Given the description of an element on the screen output the (x, y) to click on. 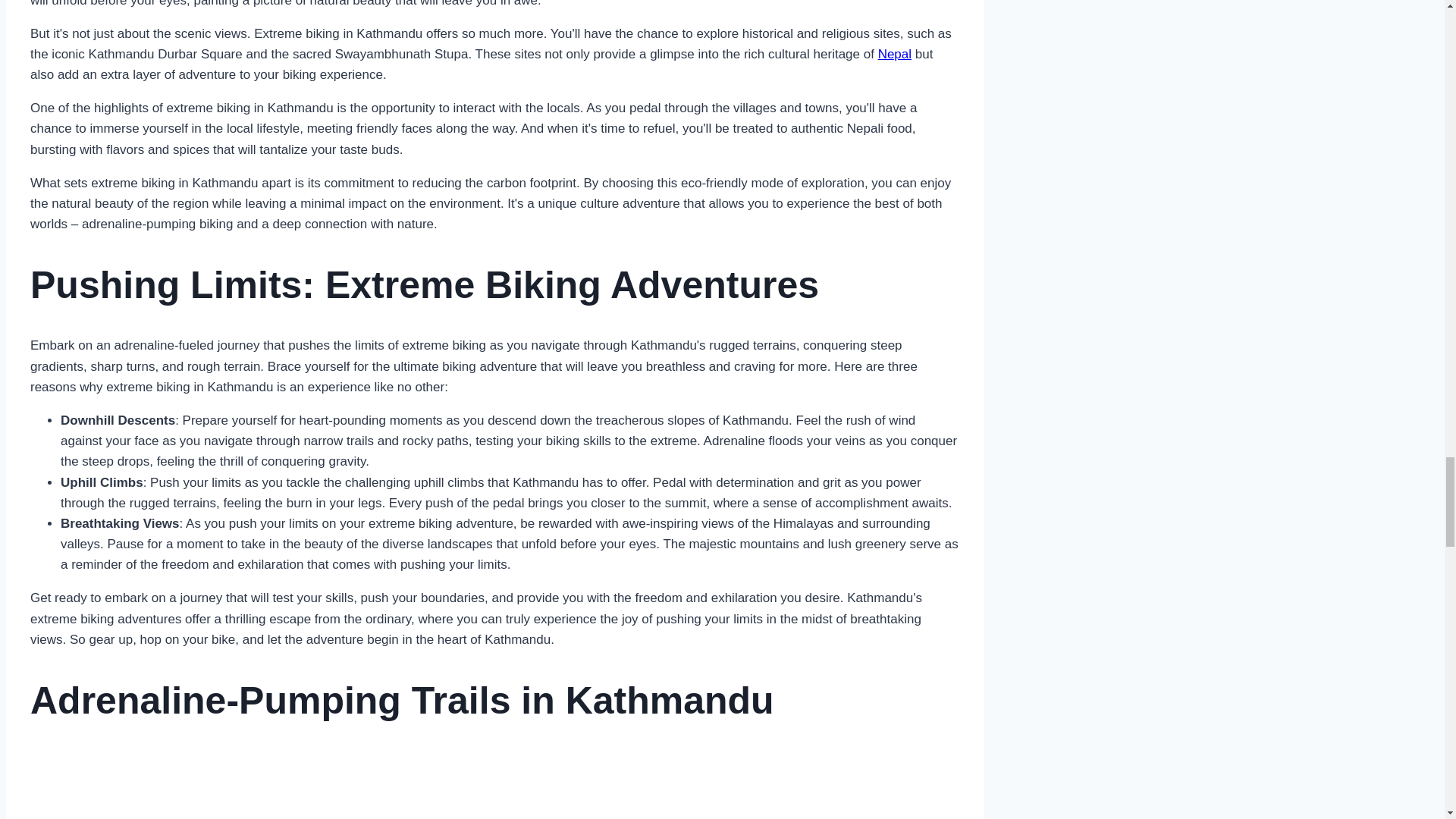
YouTube video player (494, 785)
Nepal (894, 53)
